Given the description of an element on the screen output the (x, y) to click on. 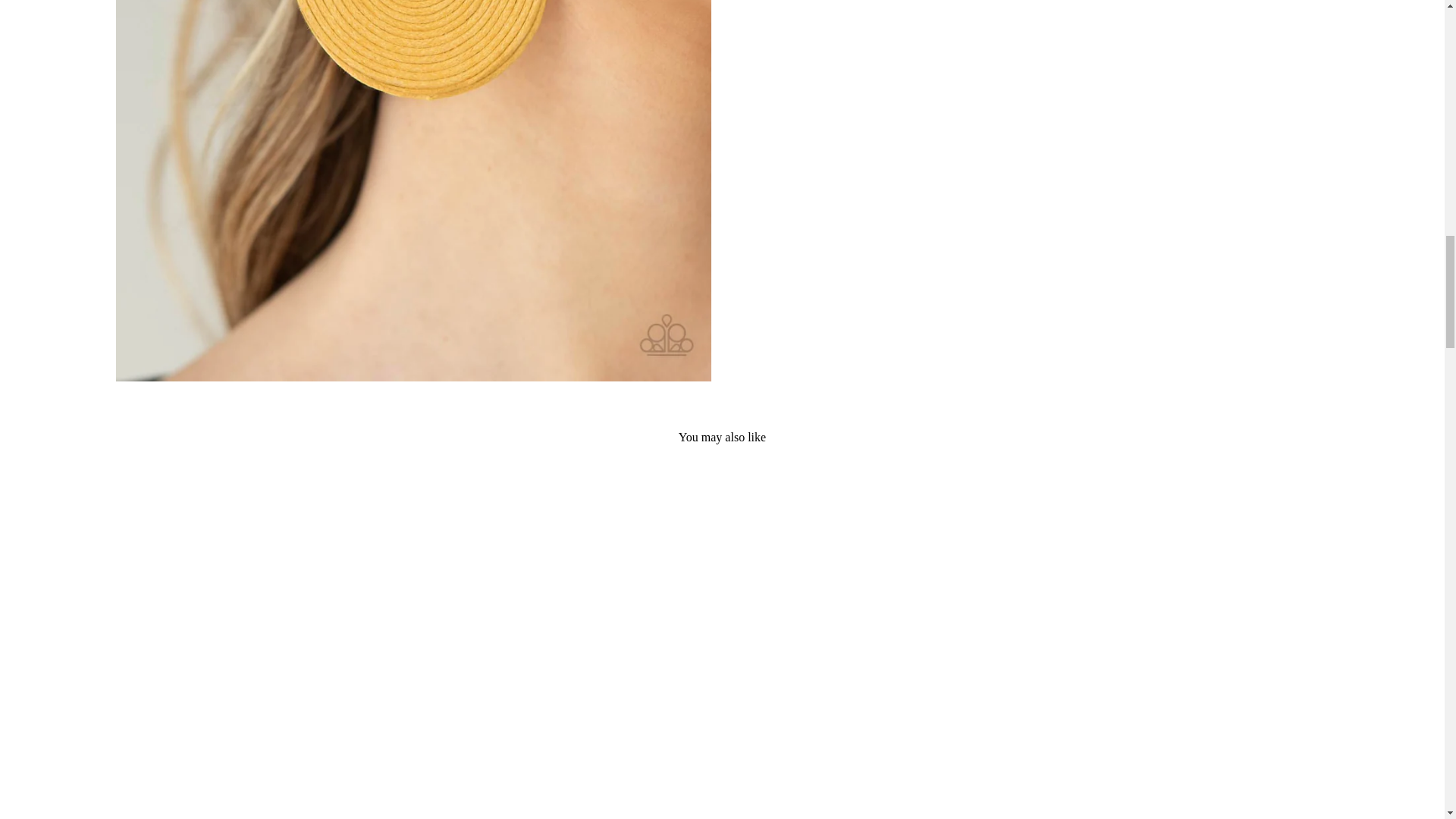
Seahorse Shanty - Orange Necklace - Paparazzi Accessories (258, 662)
Blingy Bouquet - White Ring - Paparazzi Accessories (568, 662)
Cowboy Casanova - Blue Necklace - Paparazzi Accessories (876, 662)
